Given the description of an element on the screen output the (x, y) to click on. 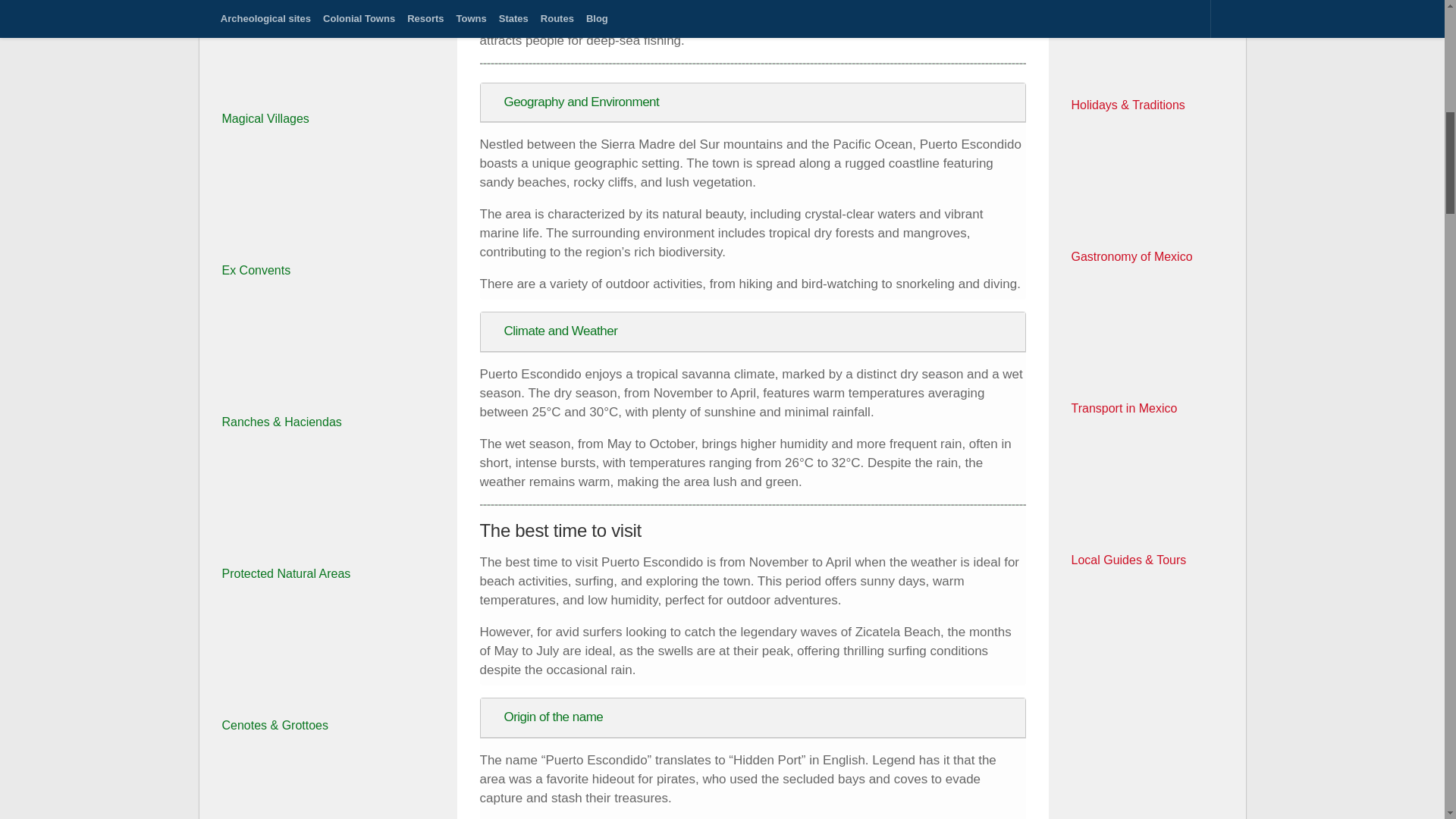
Geography and Environment (752, 102)
Climate and Weather (752, 331)
Origin of the name (752, 717)
